Given the description of an element on the screen output the (x, y) to click on. 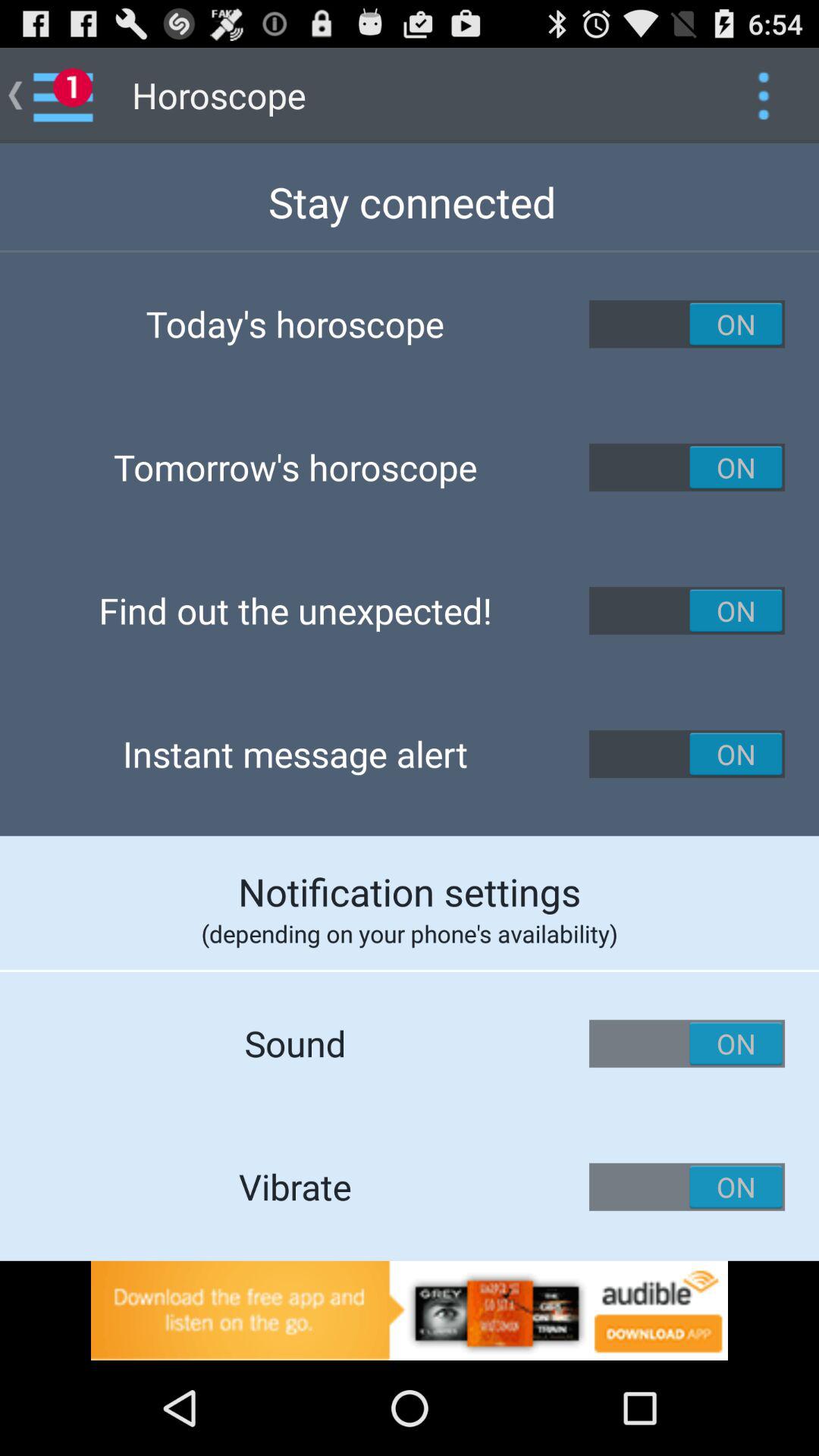
activate the option find out the unexpected (686, 610)
